Given the description of an element on the screen output the (x, y) to click on. 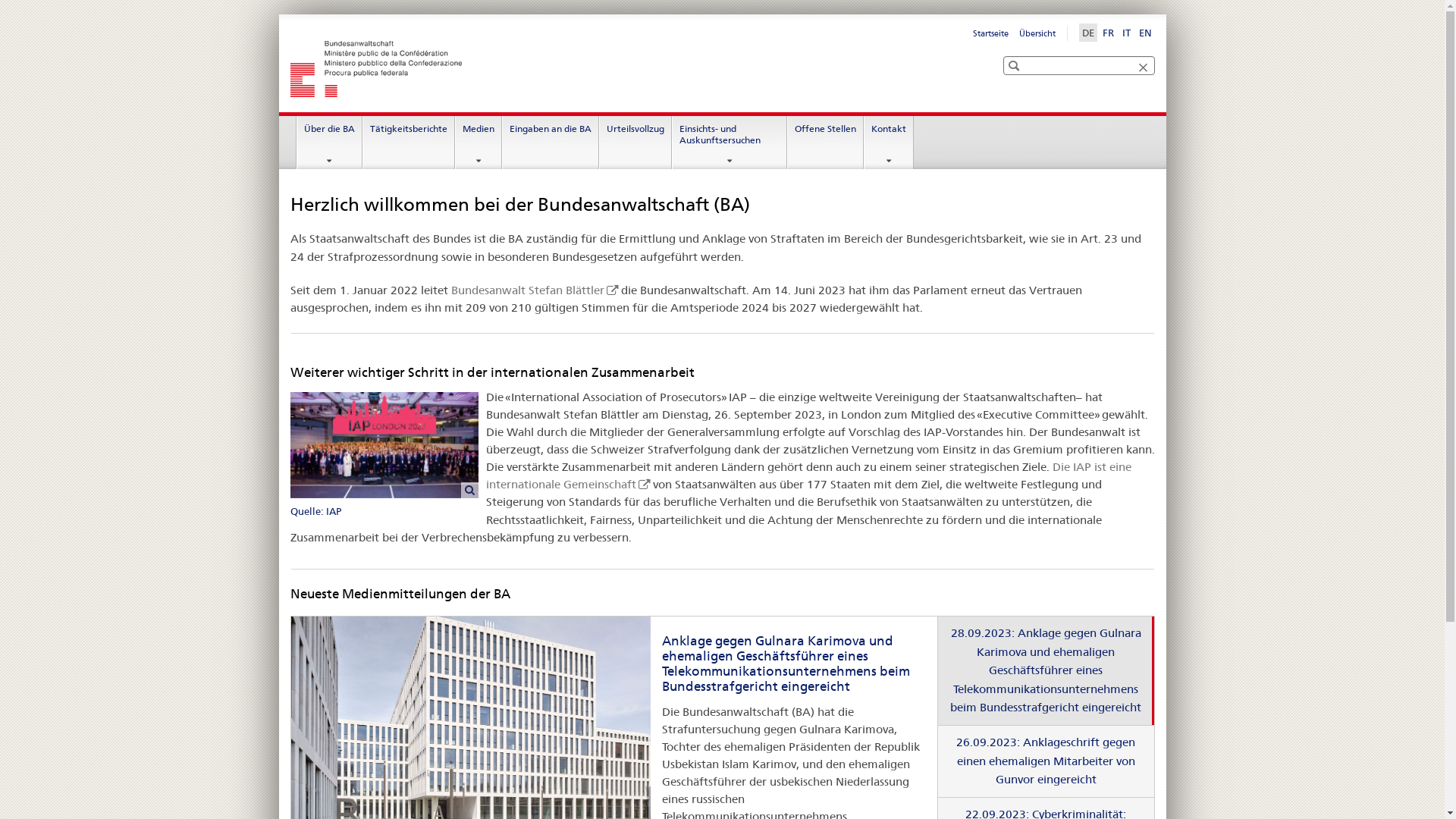
FR Element type: text (1108, 32)
DE Element type: text (1087, 32)
IT Element type: text (1126, 32)
Medien Element type: text (478, 142)
Offene Stellen Element type: text (824, 142)
Startseite Element type: text (990, 33)
Urteilsvollzug Element type: text (635, 142)
EN Element type: text (1144, 32)
Startseite Element type: hover (505, 68)
Die IAP ist eine internationale Gemeinschaft Element type: text (807, 475)
Quelle: IAP Element type: text (387, 457)
Kontakt Element type: text (888, 142)
Eingaben an die BA Element type: text (550, 142)
Einsichts- und Auskunftsersuchen Element type: text (729, 142)
